Given the description of an element on the screen output the (x, y) to click on. 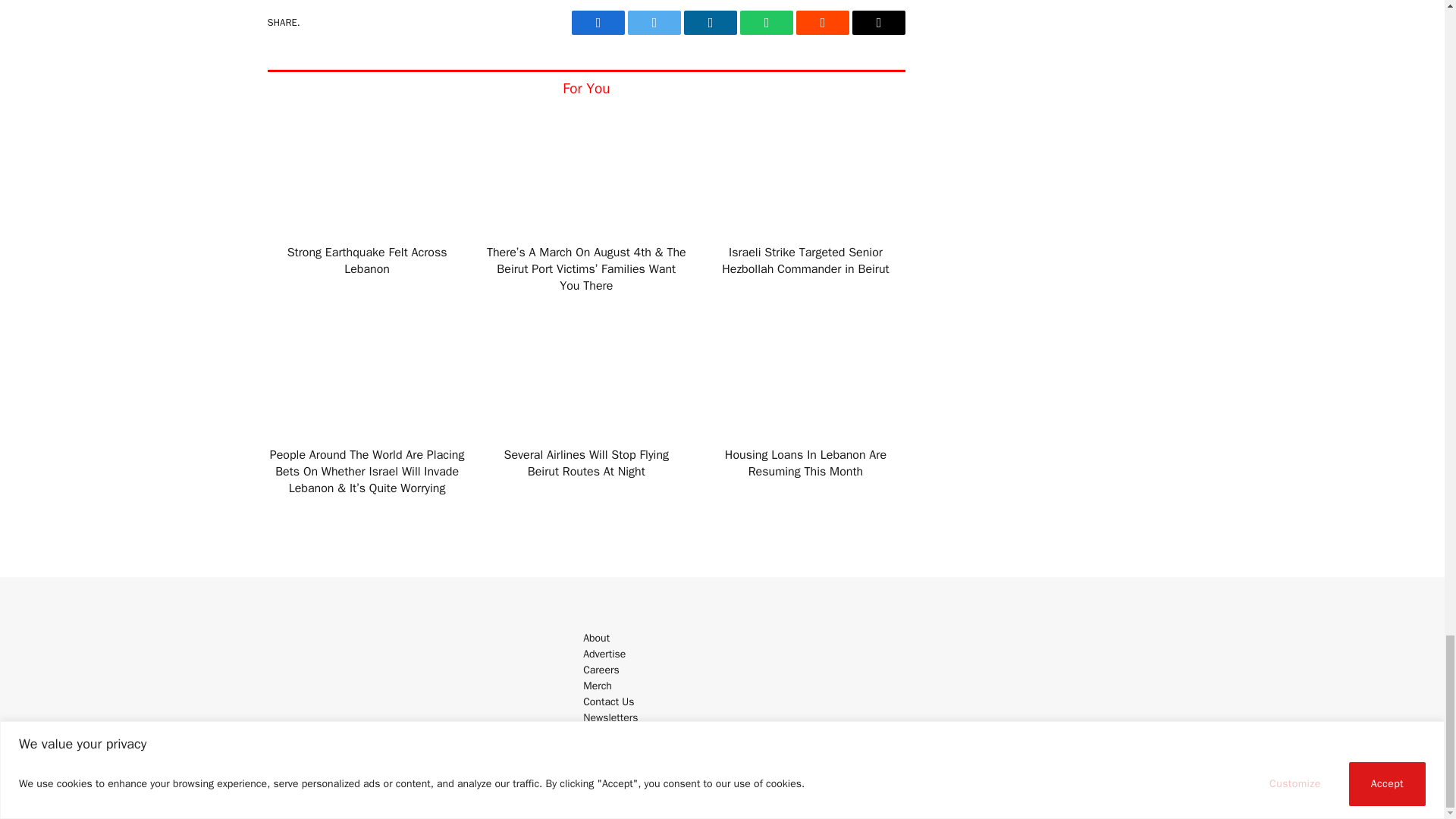
Share on WhatsApp (766, 22)
Share on LinkedIn (710, 22)
Share on Facebook (598, 22)
Share on Reddit (822, 22)
Share via Email (878, 22)
